Given the description of an element on the screen output the (x, y) to click on. 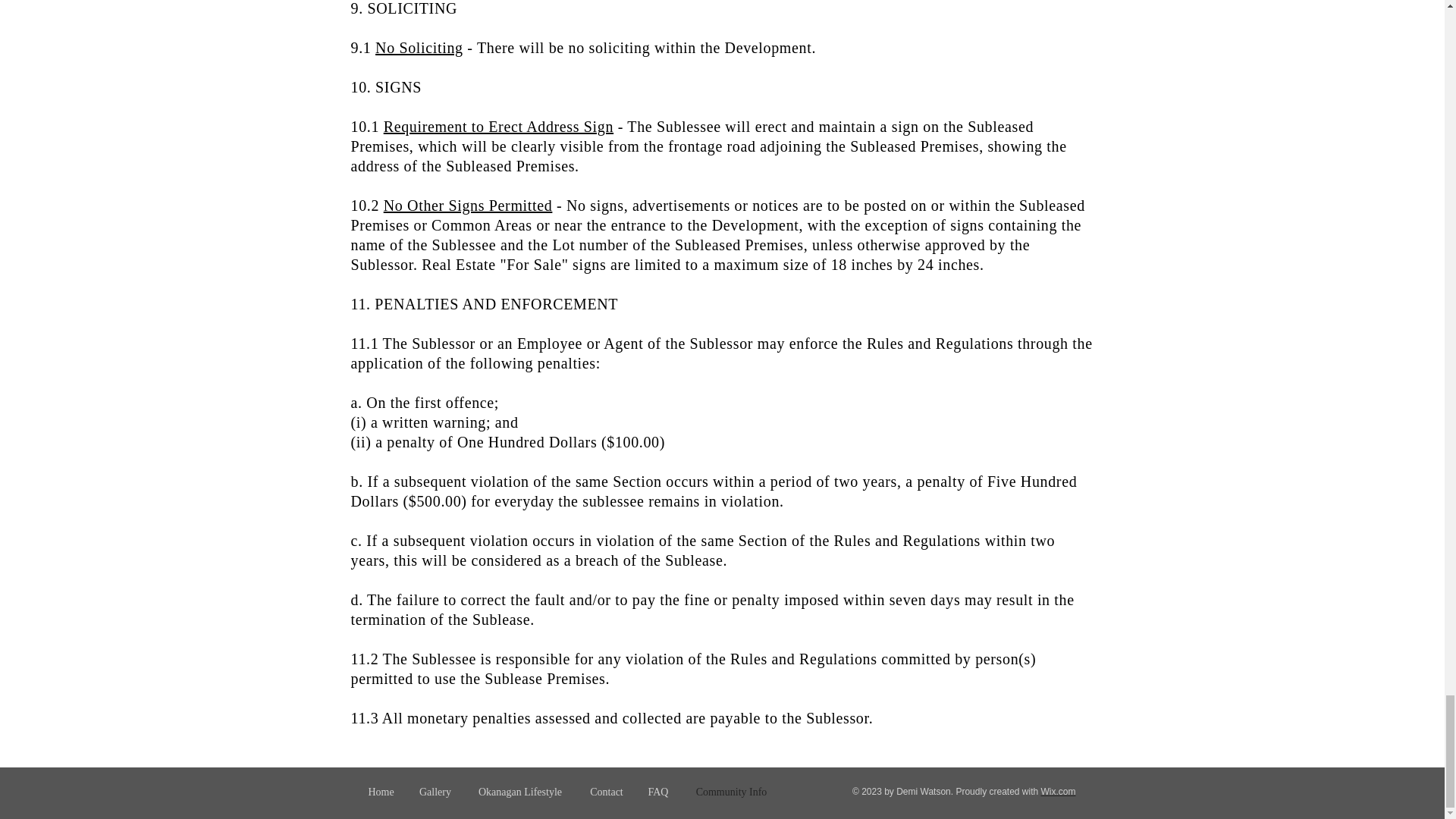
Okanagan Lifestyle (520, 792)
Community Info (731, 792)
Gallery (434, 792)
Contact (606, 792)
FAQ (658, 792)
Home (380, 792)
Wix.com (1058, 791)
